Given the description of an element on the screen output the (x, y) to click on. 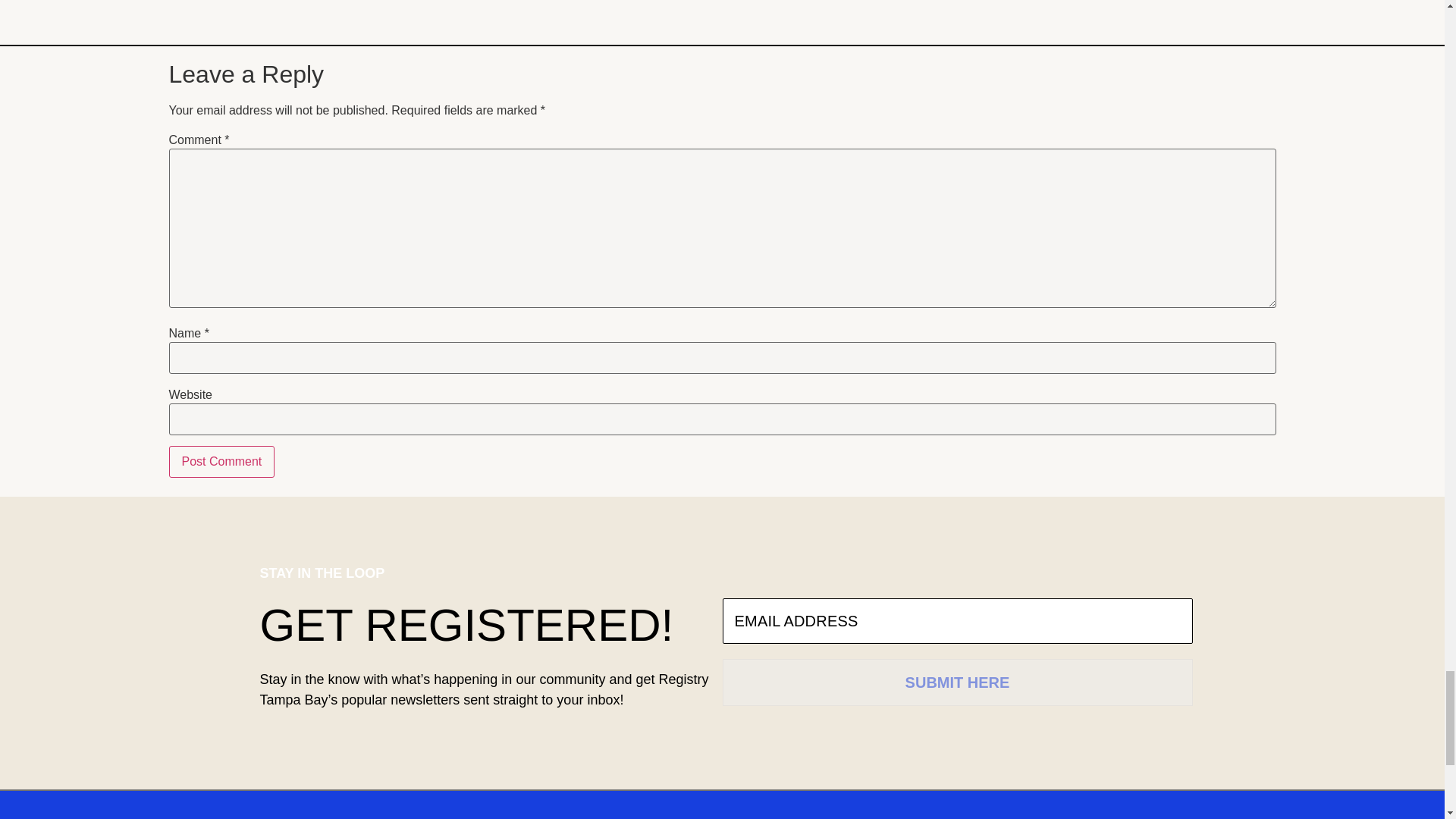
Post Comment (221, 461)
